Given the description of an element on the screen output the (x, y) to click on. 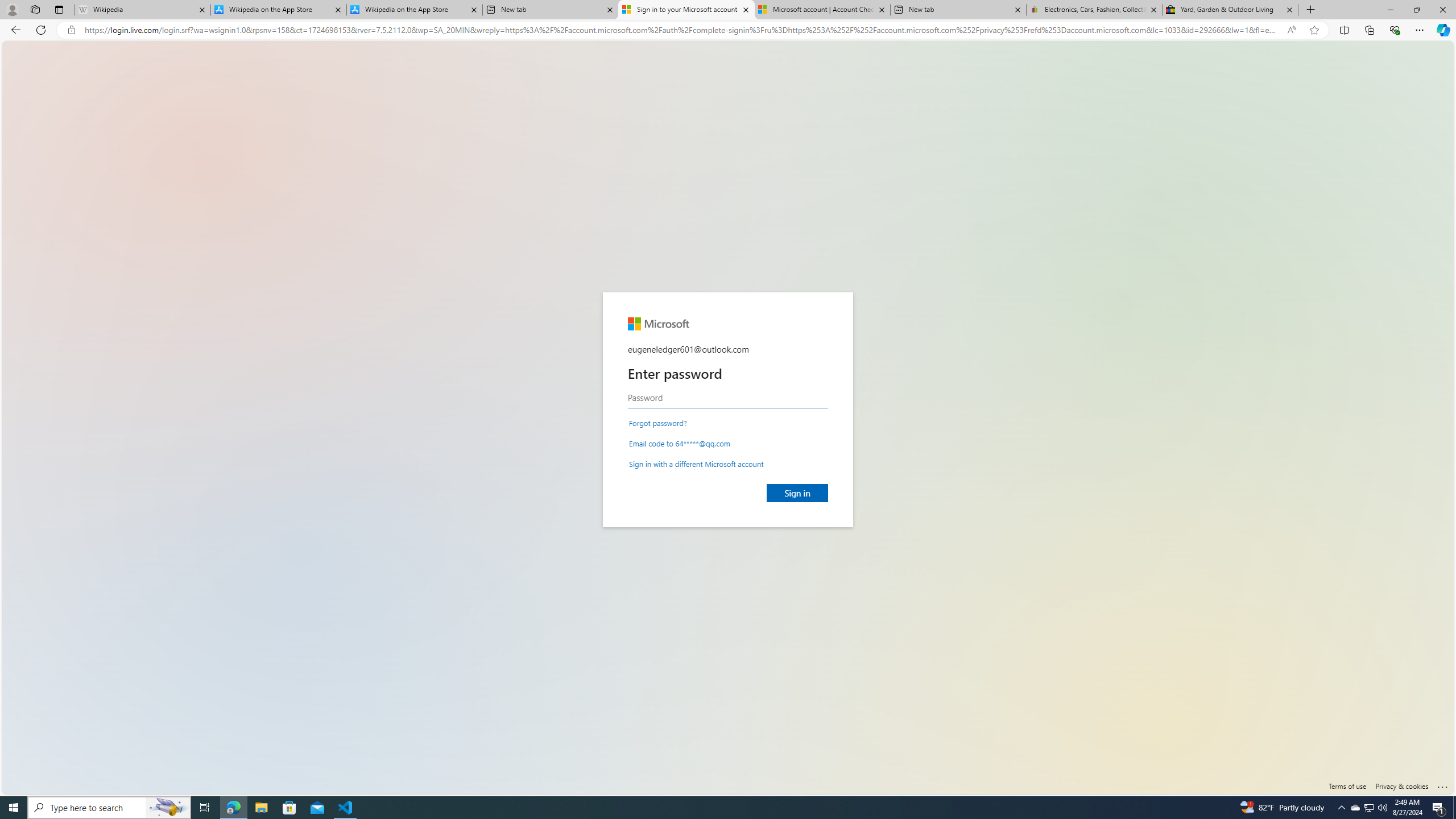
Email code to 64*****@qq.com (679, 442)
Forgot password? (657, 422)
Yard, Garden & Outdoor Living (1230, 9)
Microsoft (657, 323)
Microsoft account | Account Checkup (822, 9)
